Given the description of an element on the screen output the (x, y) to click on. 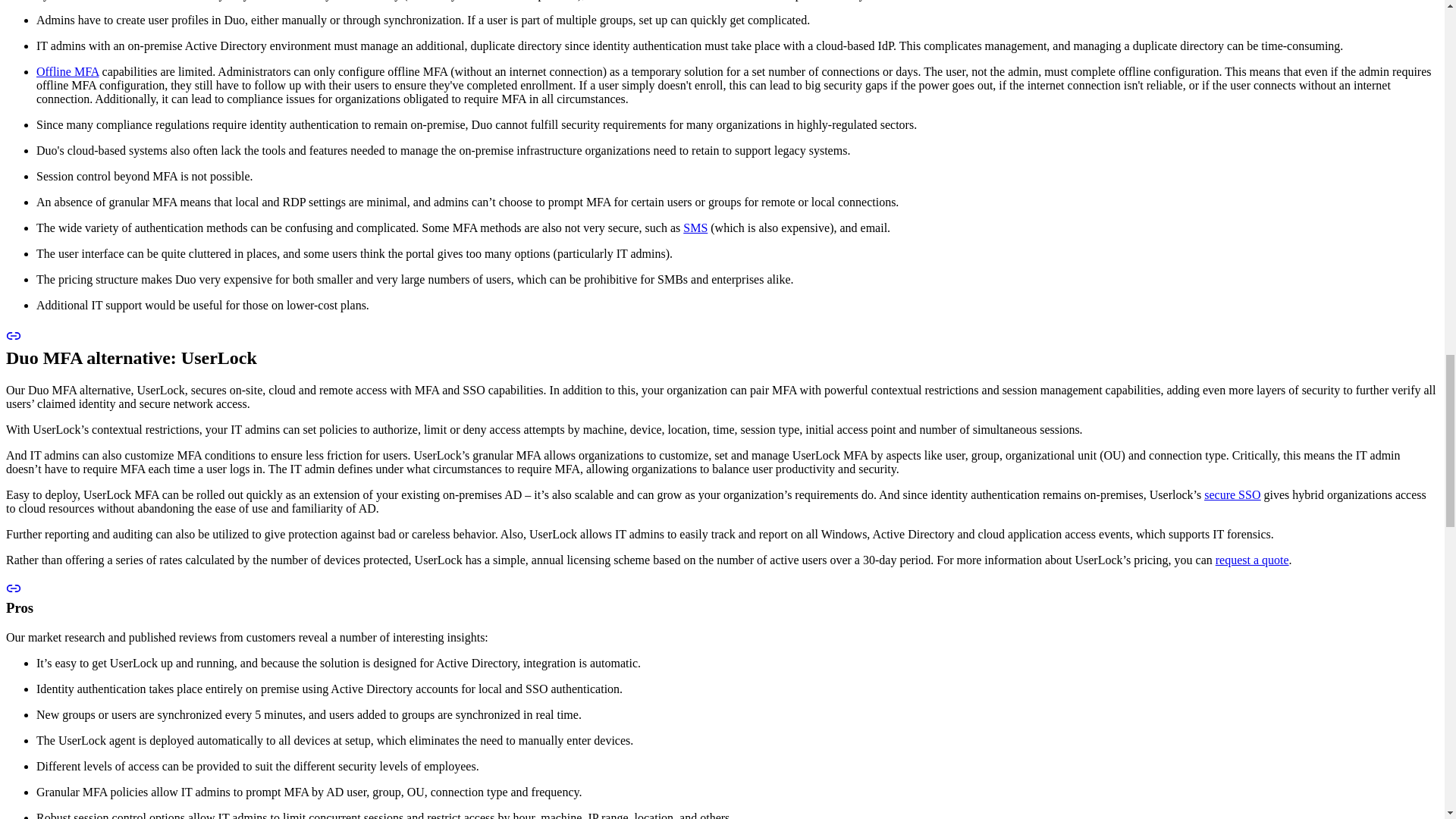
Offline MFA (67, 71)
request a quote (1251, 559)
secure SSO (1232, 494)
SMS (694, 227)
